Given the description of an element on the screen output the (x, y) to click on. 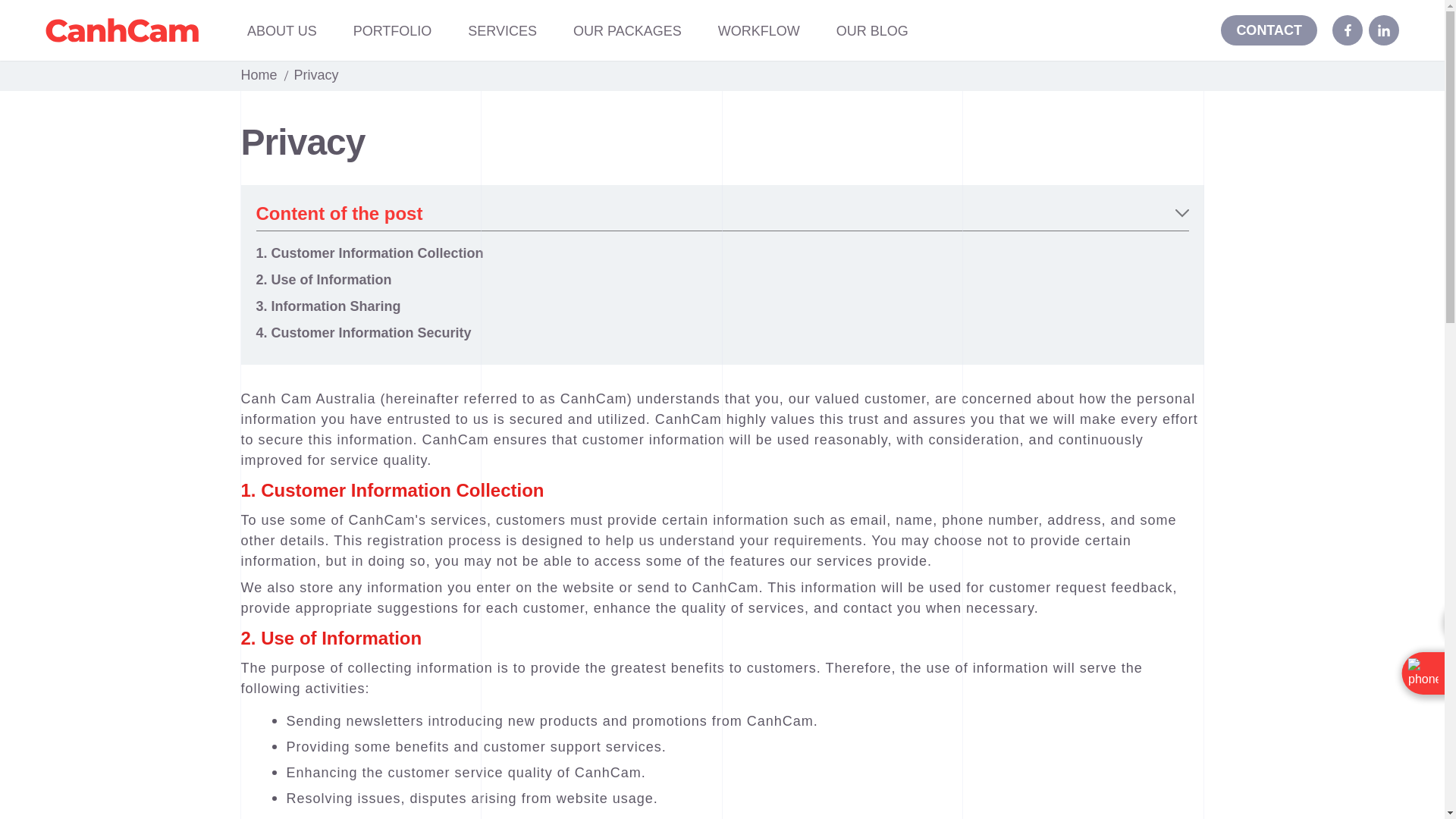
1. Customer Information Collection (369, 253)
SERVICES (502, 31)
ABOUT US (282, 31)
WORKFLOW (758, 31)
4. Customer Information Security (363, 332)
OUR BLOG (871, 31)
3. Information Sharing (328, 305)
Privacy (316, 74)
PORTFOLIO (392, 31)
CONTACT (1269, 30)
Home (259, 74)
2. Use of Information (323, 279)
OUR PACKAGES (627, 31)
